Given the description of an element on the screen output the (x, y) to click on. 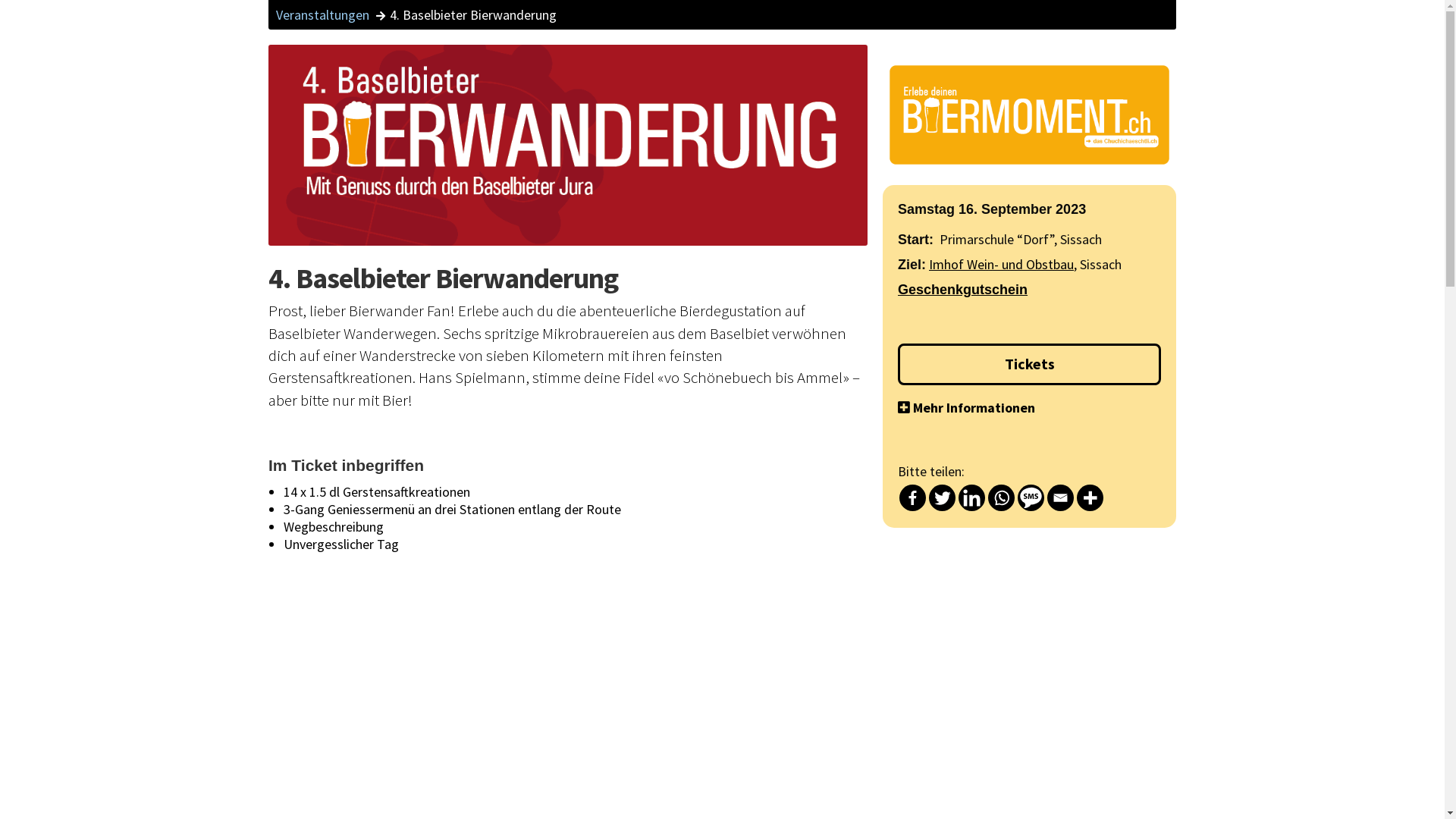
Tickets Element type: text (1029, 364)
Twitter Element type: hover (941, 497)
Veranstaltungen Element type: text (331, 14)
Imhof Wein- und Obstbau Element type: text (1000, 264)
SMS Element type: hover (1030, 497)
Geschenkgutschein Element type: text (962, 289)
Whatsapp Element type: hover (1001, 497)
Linkedin Element type: hover (971, 497)
More Element type: hover (1089, 497)
Email Element type: hover (1060, 497)
Mehr Informationen Element type: text (1029, 407)
Facebook Element type: hover (912, 497)
